Given the description of an element on the screen output the (x, y) to click on. 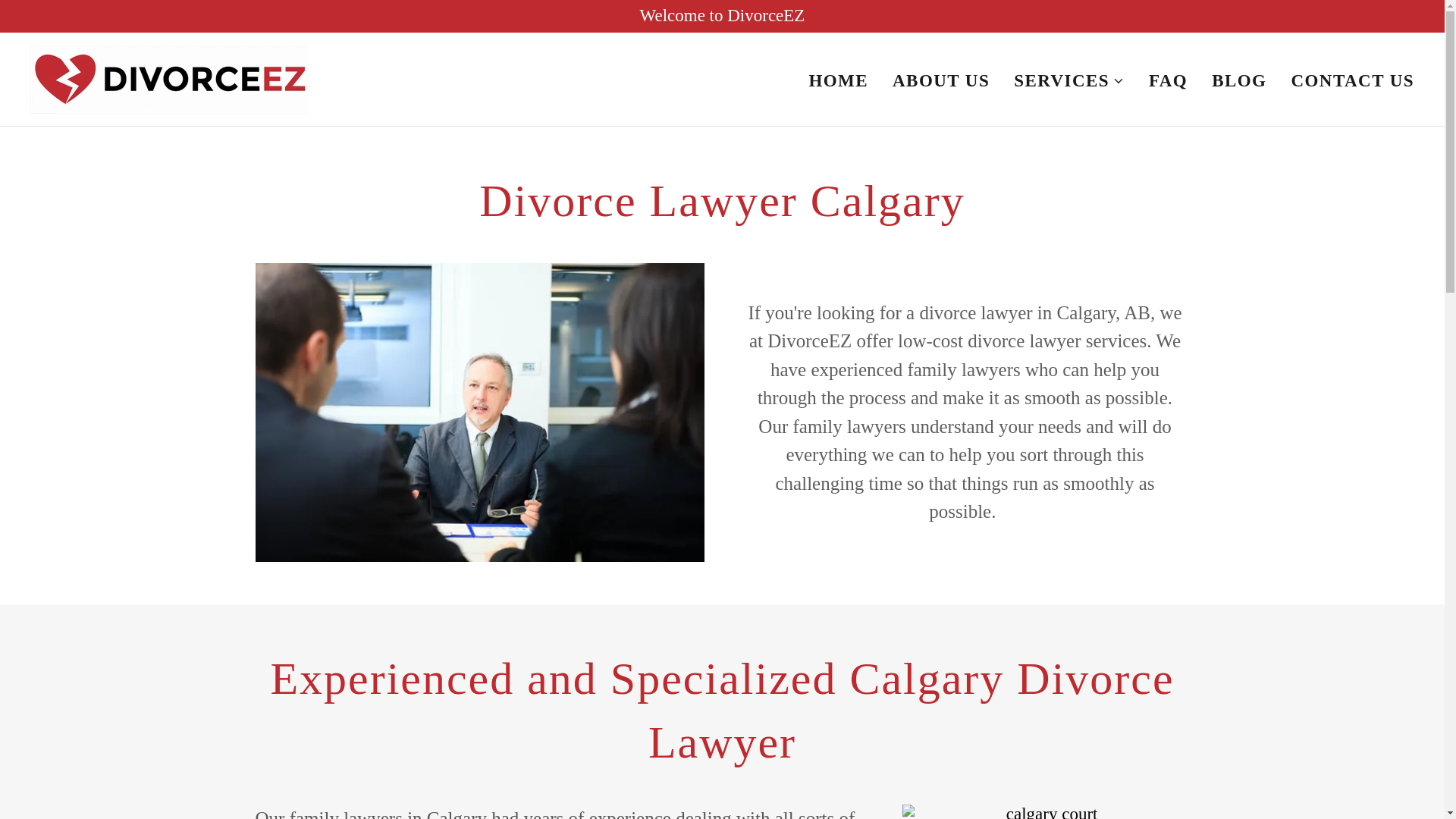
BLOG (1239, 80)
ABOUT US (941, 80)
HOME (837, 80)
CONTACT US (1351, 80)
SERVICES (1068, 80)
FAQ (1168, 80)
